Given the description of an element on the screen output the (x, y) to click on. 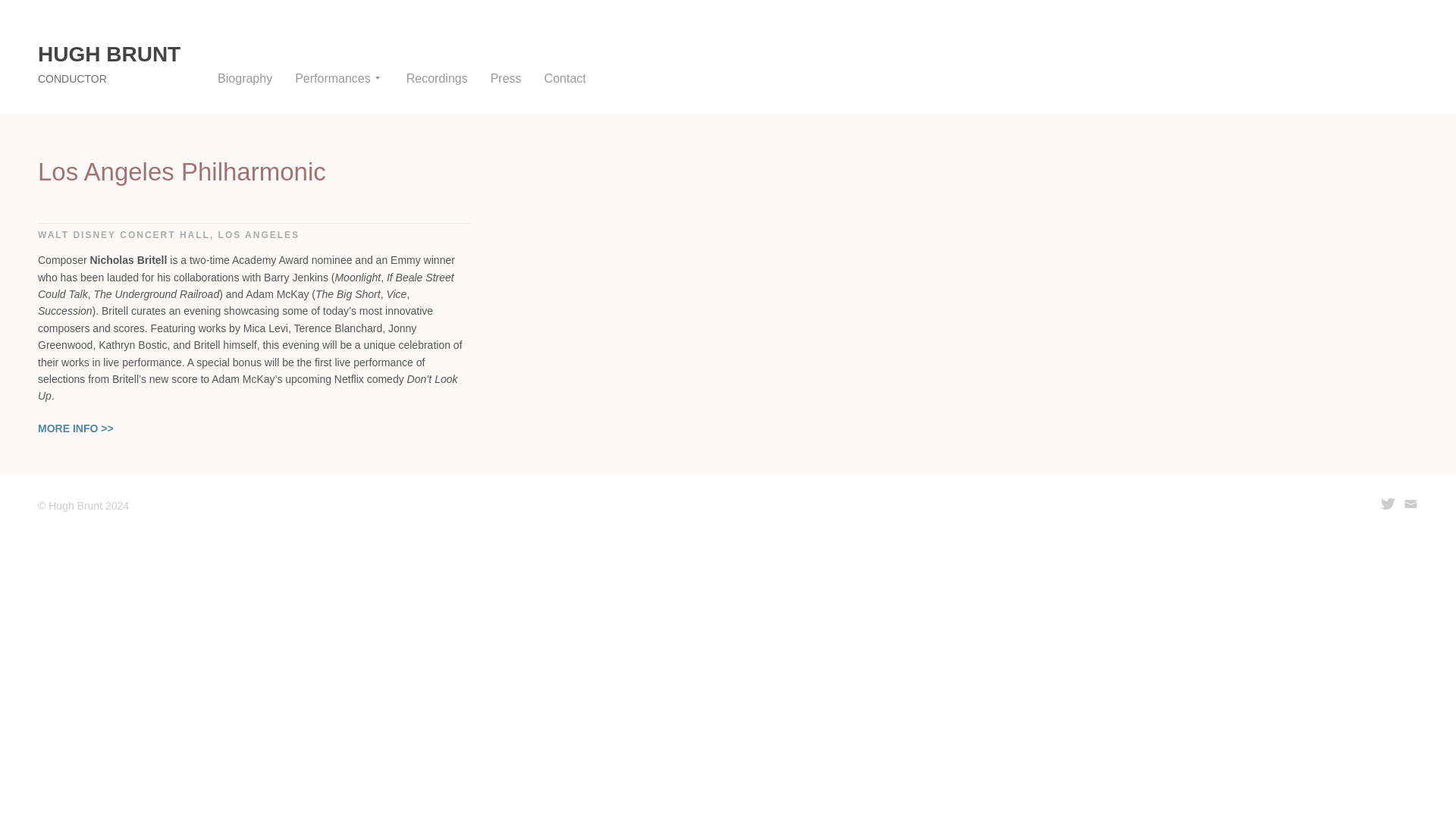
Biography (244, 78)
Performances (337, 78)
Contact (565, 78)
HUGH BRUNT (108, 54)
Recordings (436, 78)
Press (505, 78)
